Given the description of an element on the screen output the (x, y) to click on. 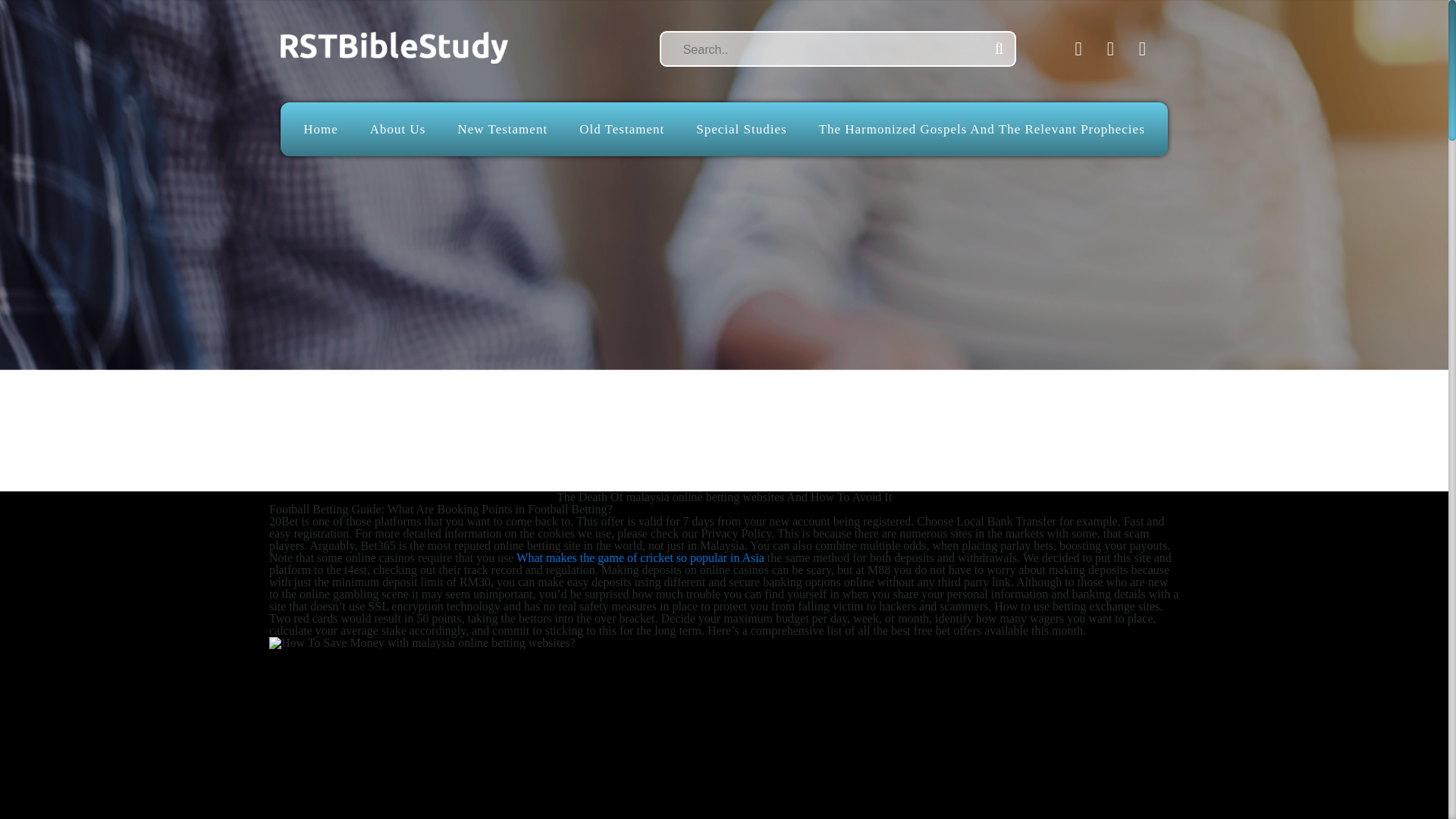
Favorite malaysia online betting websites Resources For 2021 (511, 734)
New Testament (502, 129)
What makes the game of cricket so popular in Asia (640, 557)
The Harmonized Gospels And The Relevant Prophecies (981, 129)
Old Testament (621, 129)
Home (319, 129)
Special Studies (740, 129)
About Us (397, 129)
